Given the description of an element on the screen output the (x, y) to click on. 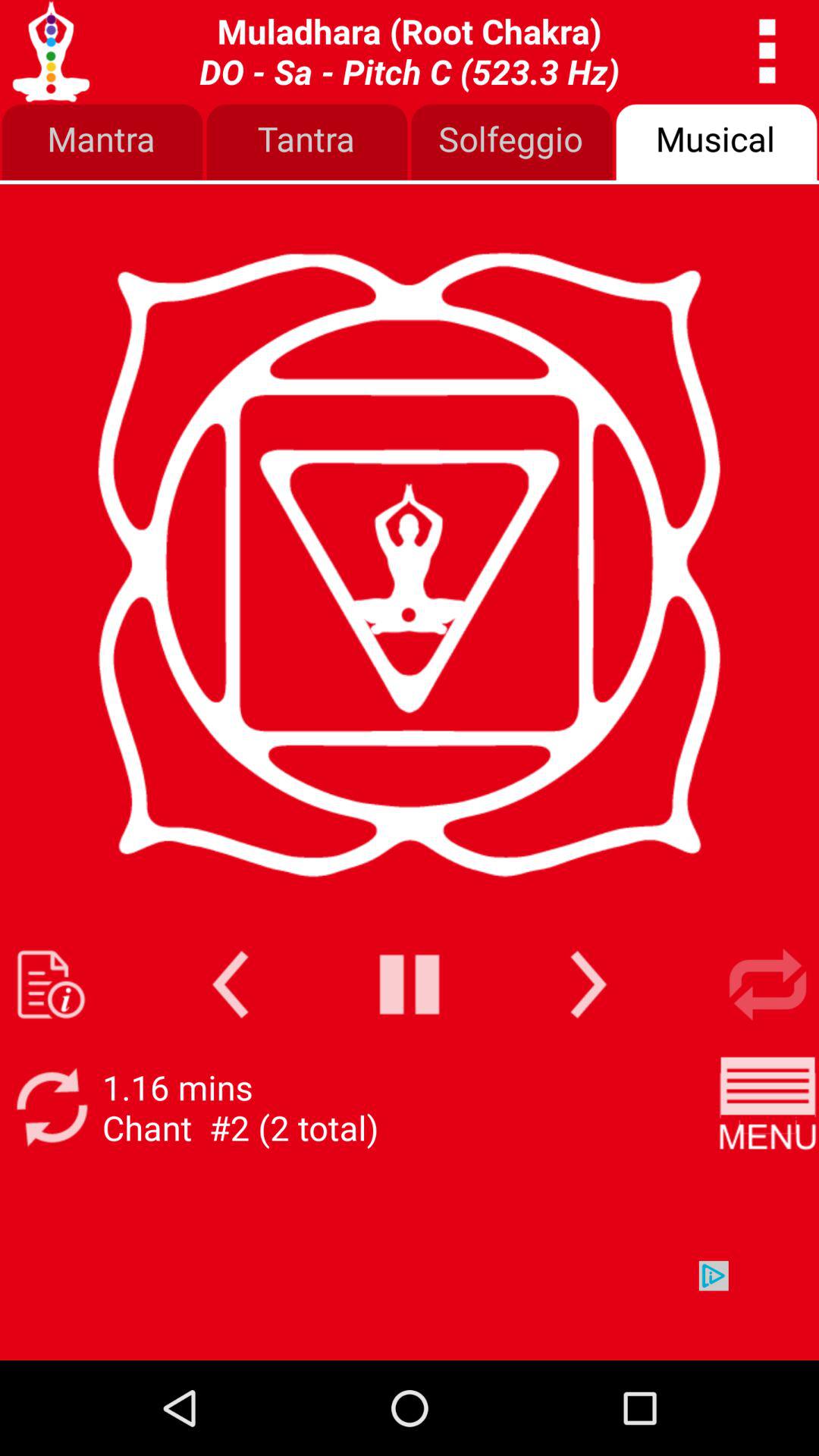
select the item above the 1 17 mins app (230, 984)
